Given the description of an element on the screen output the (x, y) to click on. 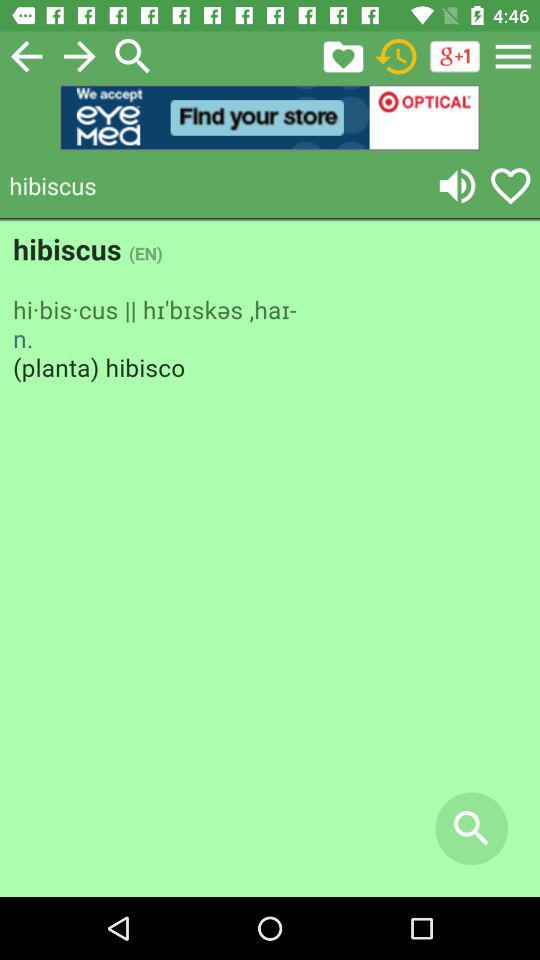
play (457, 185)
